Given the description of an element on the screen output the (x, y) to click on. 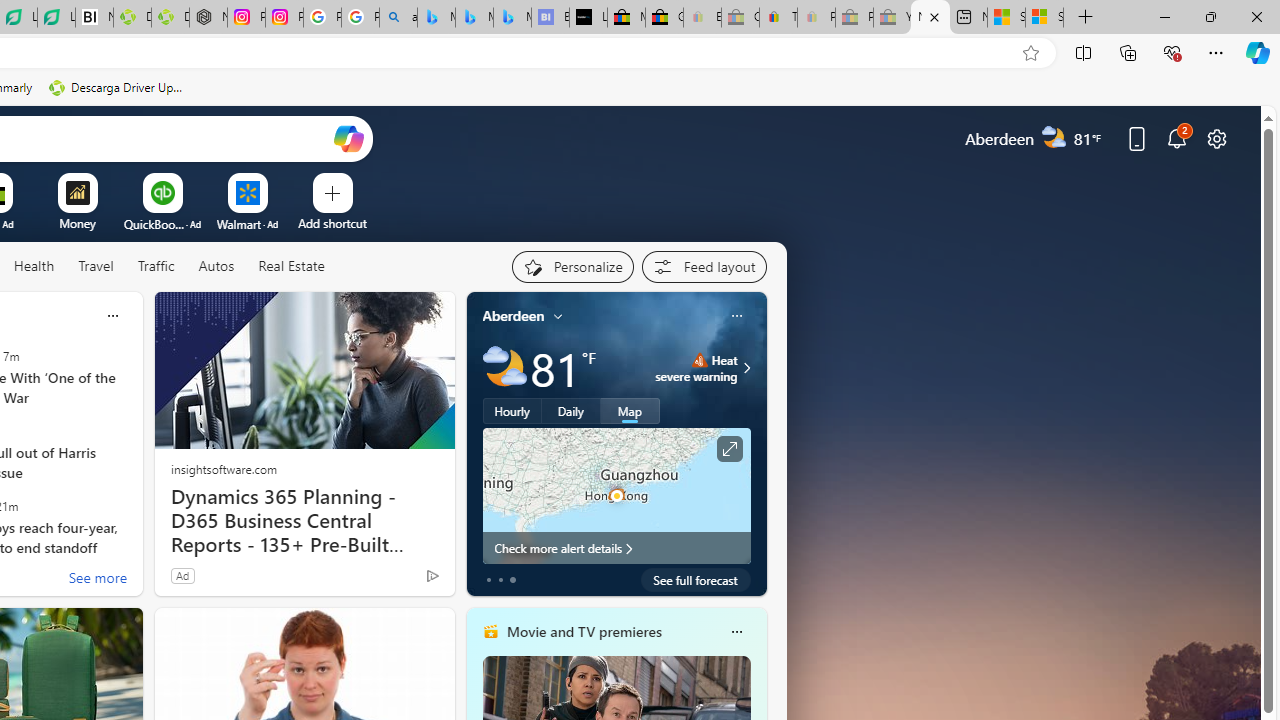
Add a site (332, 223)
Partly cloudy (504, 368)
Larger map  (616, 495)
tab-0 (488, 579)
Nordace - Nordace Edin Collection (207, 17)
LendingTree - Compare Lenders (56, 17)
Click to see more information (728, 449)
Nvidia va a poner a prueba la paciencia de los inversores (93, 17)
